Given the description of an element on the screen output the (x, y) to click on. 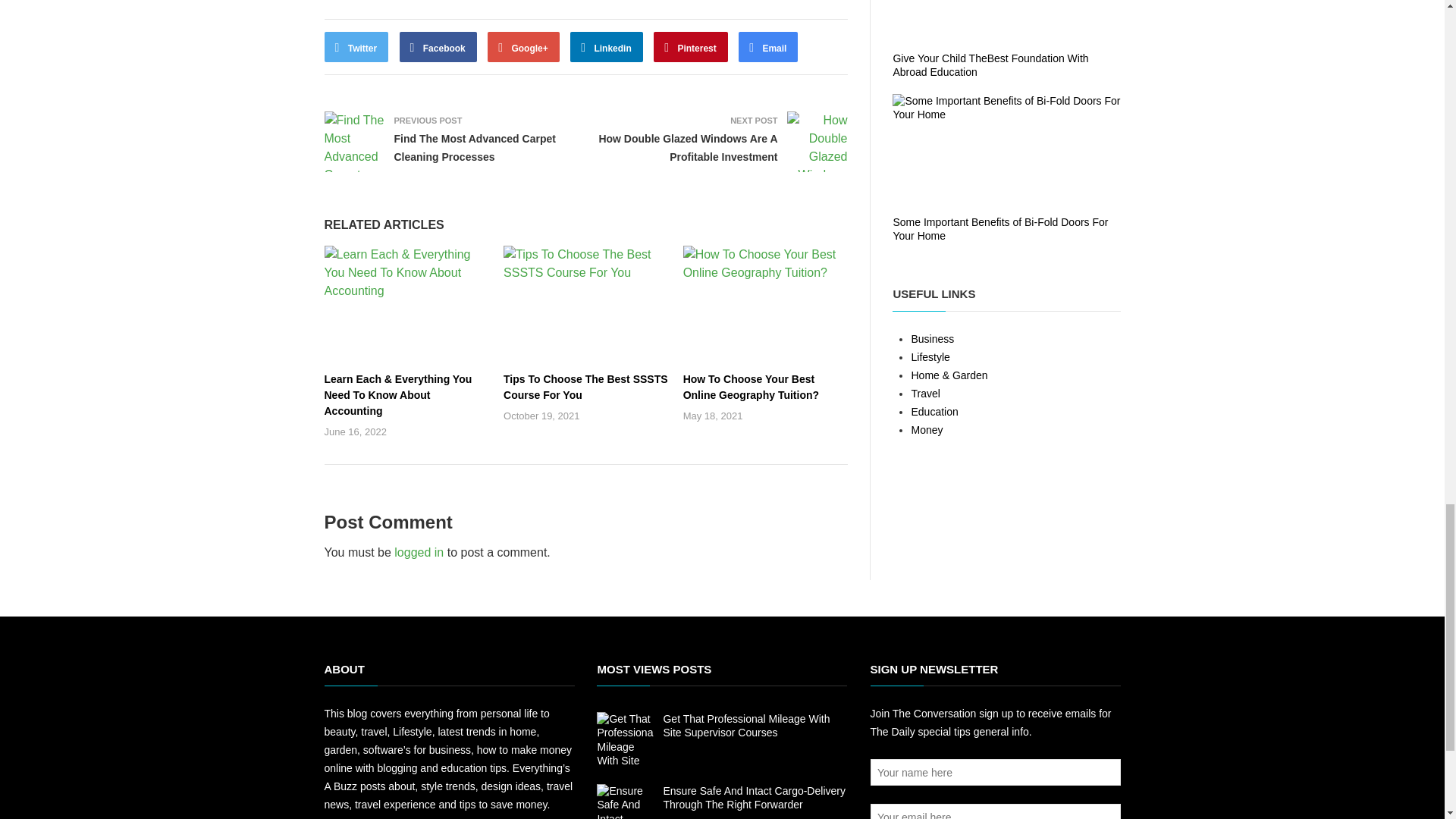
Pinterest (690, 46)
Email (767, 46)
How Double Glazed Windows Are A Profitable Investment (687, 147)
Facebook (437, 46)
Twitter (356, 46)
Linkedin (606, 46)
Find The Most Advanced Carpet Cleaning Processes (475, 147)
